Given the description of an element on the screen output the (x, y) to click on. 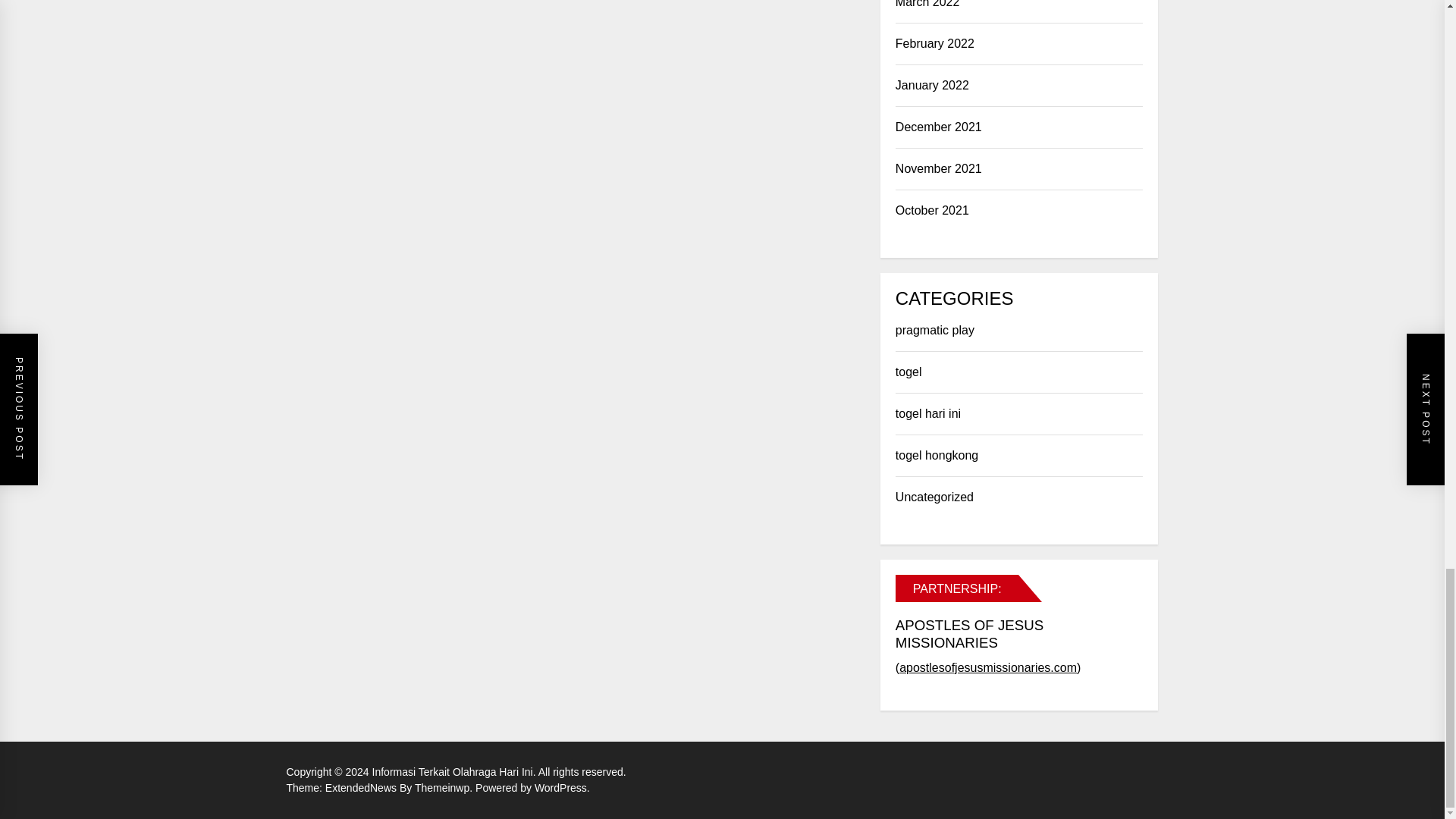
WordPress (561, 787)
Informasi Terkait Olahraga Hari Ini (455, 771)
Themeinwp (445, 787)
